Given the description of an element on the screen output the (x, y) to click on. 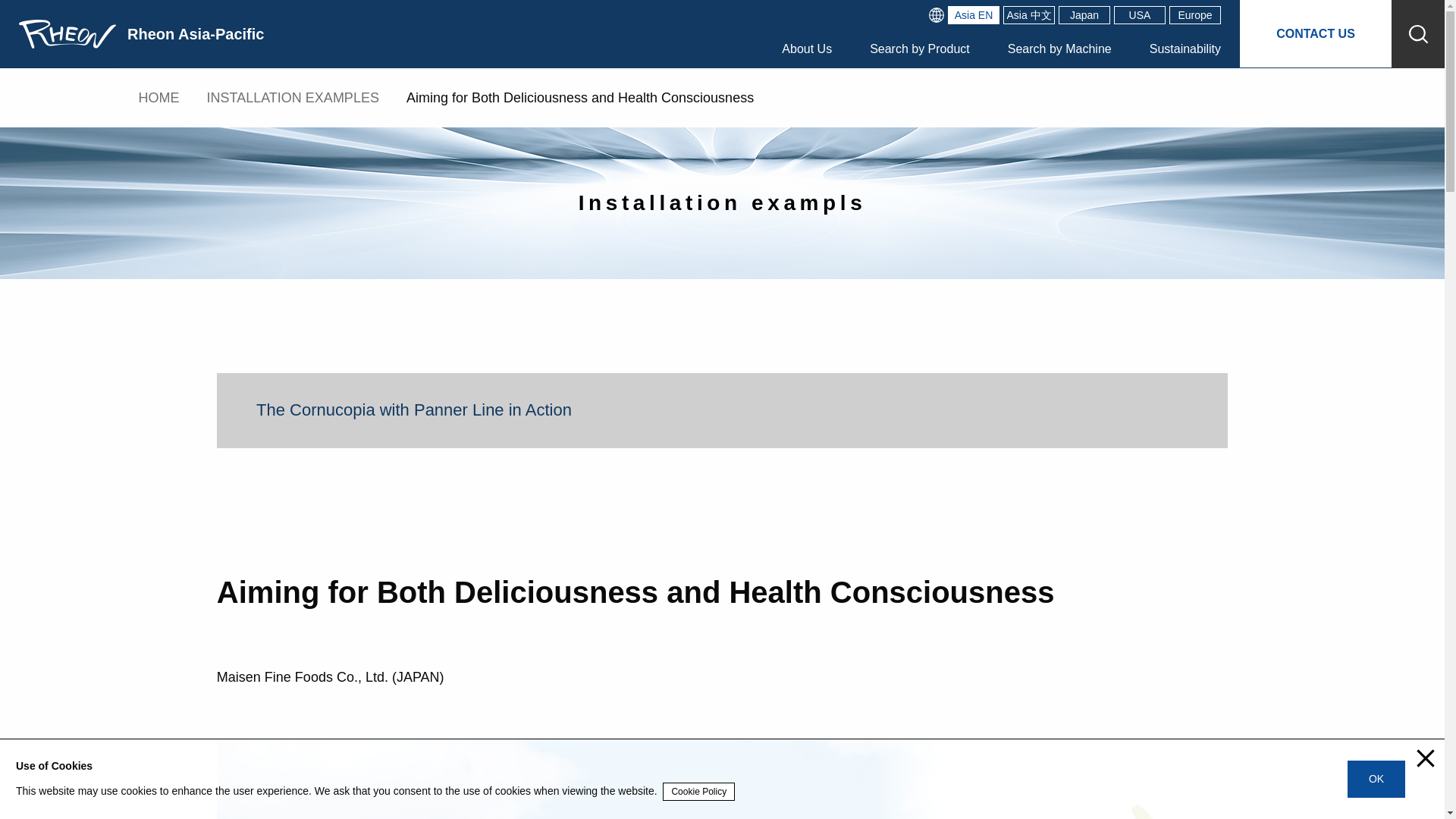
USA (1139, 14)
About Us (806, 48)
HOME (158, 97)
Japan (1083, 14)
Search by Product (919, 48)
CONTACT US (1315, 33)
Search by Machine (1059, 48)
INSTALLATION EXAMPLES (292, 97)
Sustainability (1185, 48)
Europe (1195, 14)
